Given the description of an element on the screen output the (x, y) to click on. 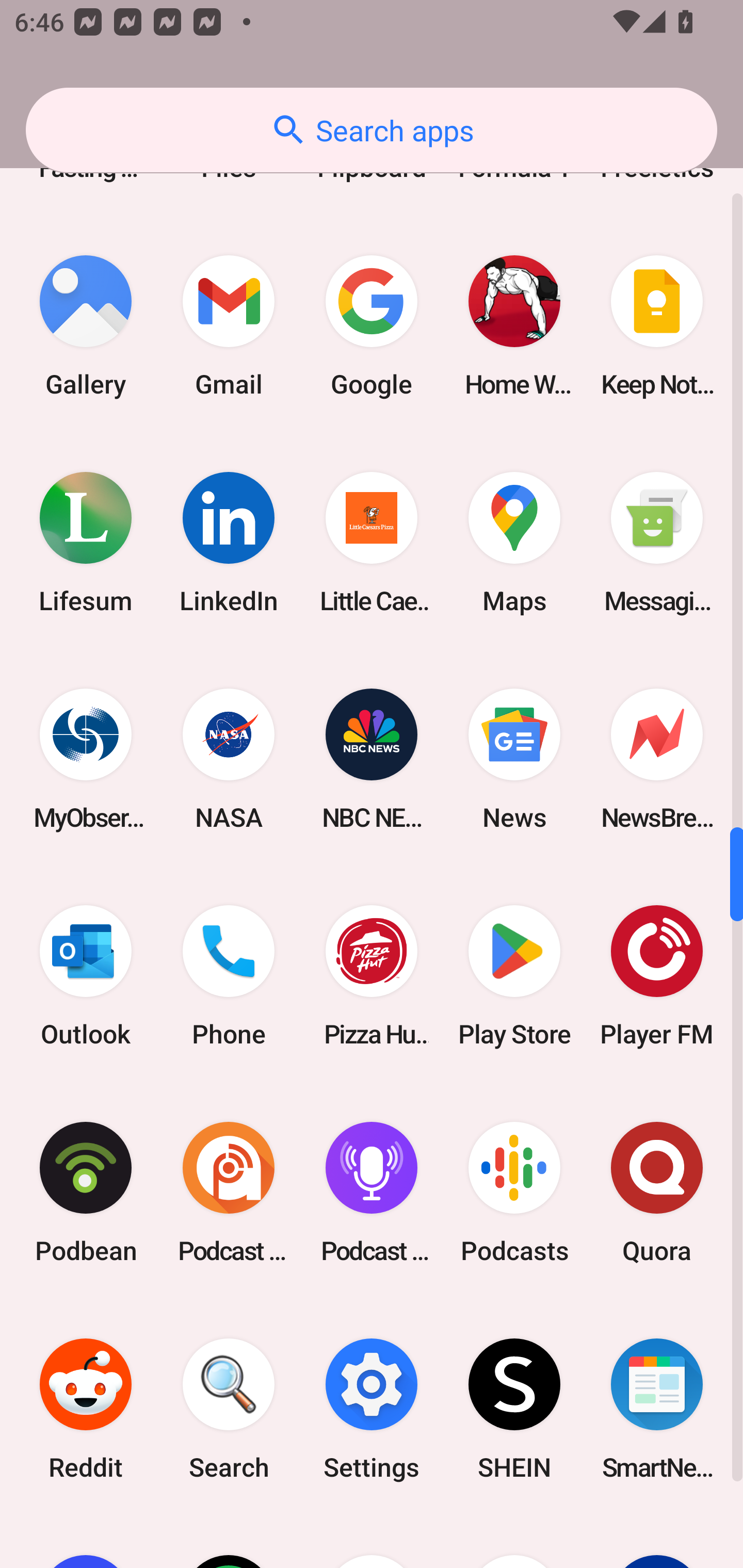
  Search apps (371, 130)
Gallery (85, 325)
Gmail (228, 325)
Google (371, 325)
Home Workout (514, 325)
Keep Notes (656, 325)
Lifesum (85, 542)
LinkedIn (228, 542)
Little Caesars Pizza (371, 542)
Maps (514, 542)
Messaging (656, 542)
MyObservatory (85, 758)
NASA (228, 758)
NBC NEWS (371, 758)
News (514, 758)
NewsBreak (656, 758)
Outlook (85, 975)
Phone (228, 975)
Pizza Hut HK & Macau (371, 975)
Play Store (514, 975)
Player FM (656, 975)
Podbean (85, 1192)
Podcast Addict (228, 1192)
Podcast Player (371, 1192)
Podcasts (514, 1192)
Quora (656, 1192)
Reddit (85, 1409)
Search (228, 1409)
Settings (371, 1409)
SHEIN (514, 1409)
SmartNews (656, 1409)
